Given the description of an element on the screen output the (x, y) to click on. 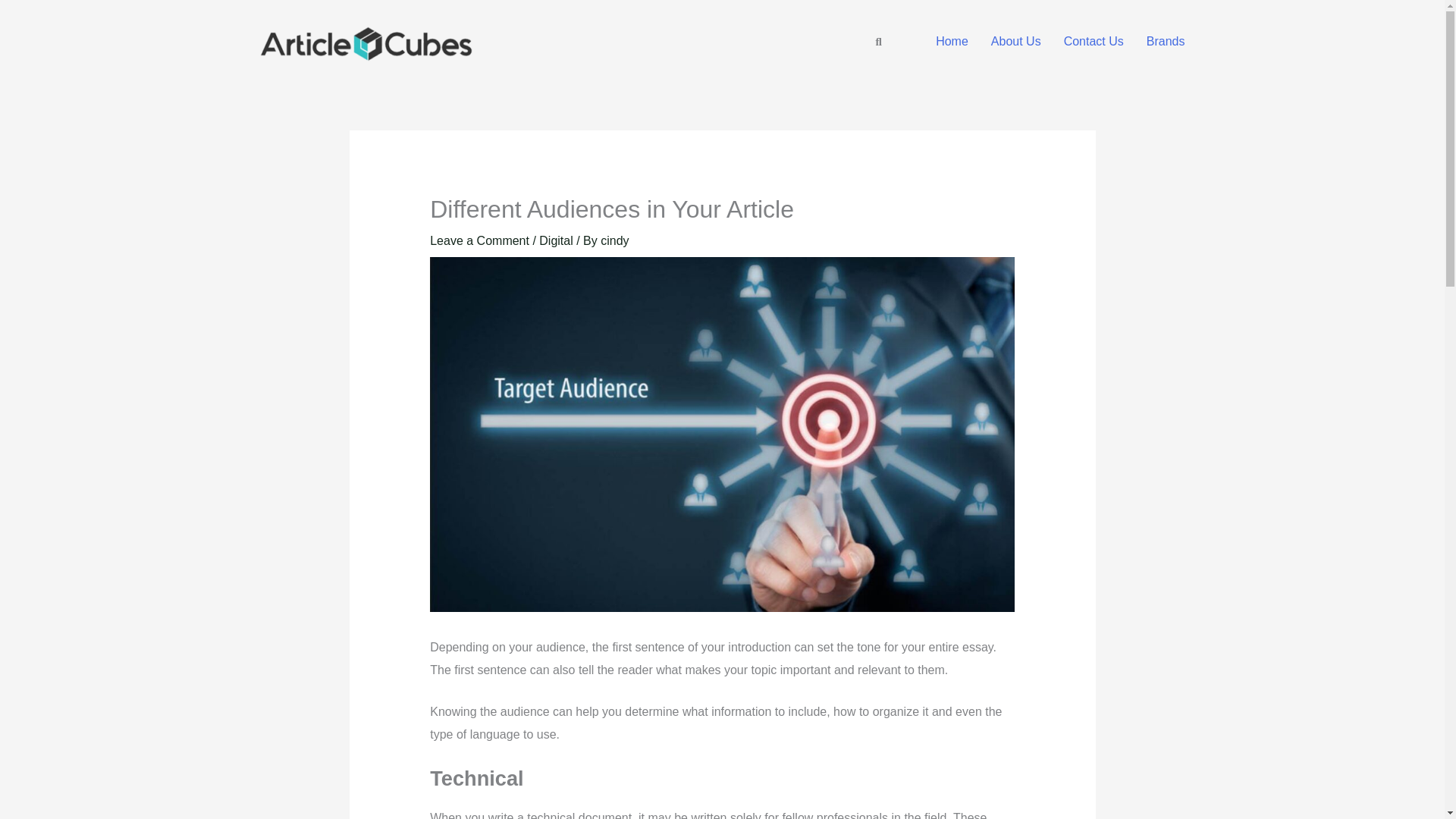
Brands (1165, 41)
Home (951, 41)
Contact Us (1093, 41)
cindy (613, 240)
View all posts by cindy (613, 240)
Leave a Comment (479, 240)
Digital (555, 240)
About Us (1015, 41)
